Given the description of an element on the screen output the (x, y) to click on. 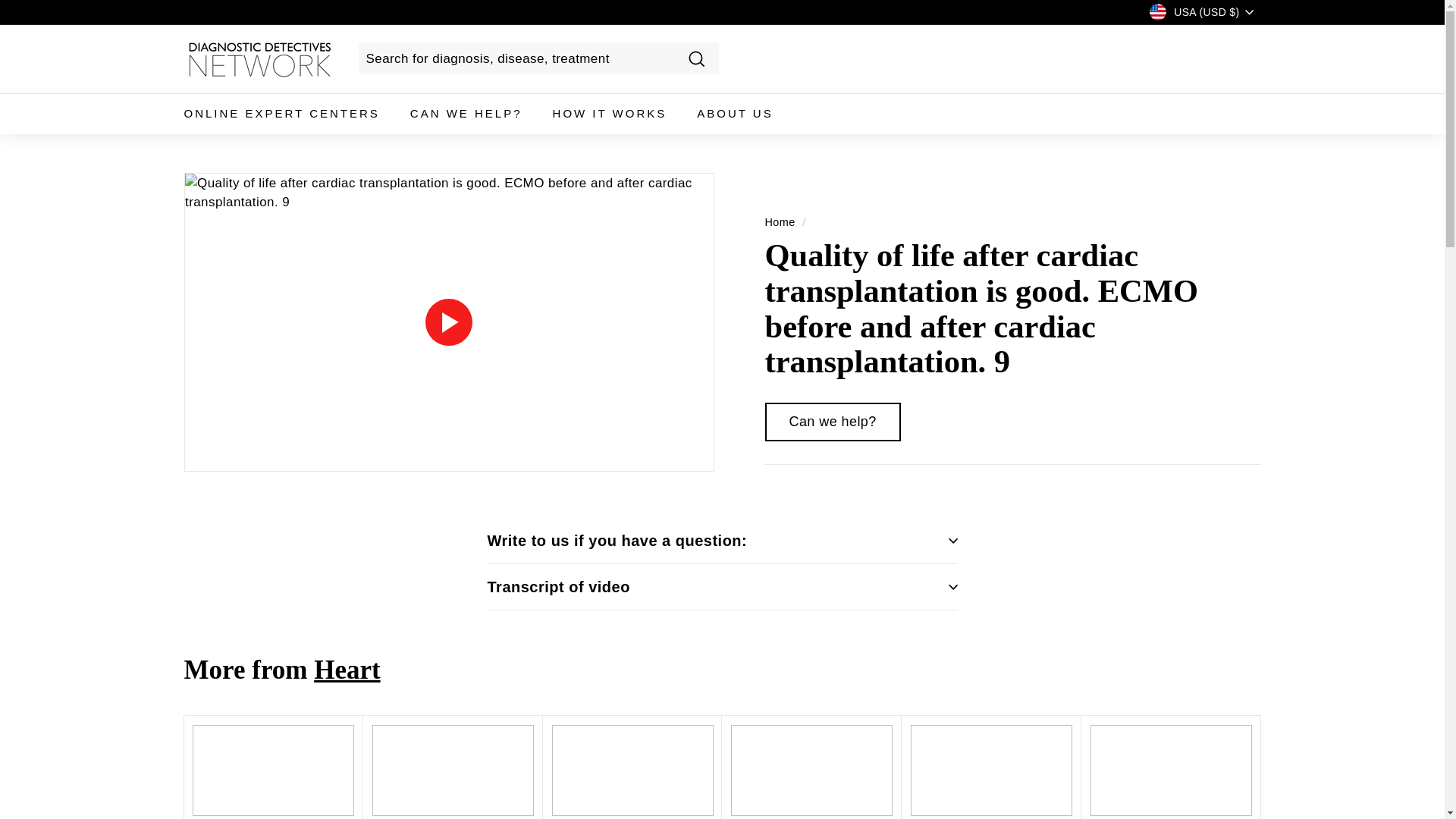
Back to the frontpage (779, 221)
ONLINE EXPERT CENTERS (281, 113)
